Given the description of an element on the screen output the (x, y) to click on. 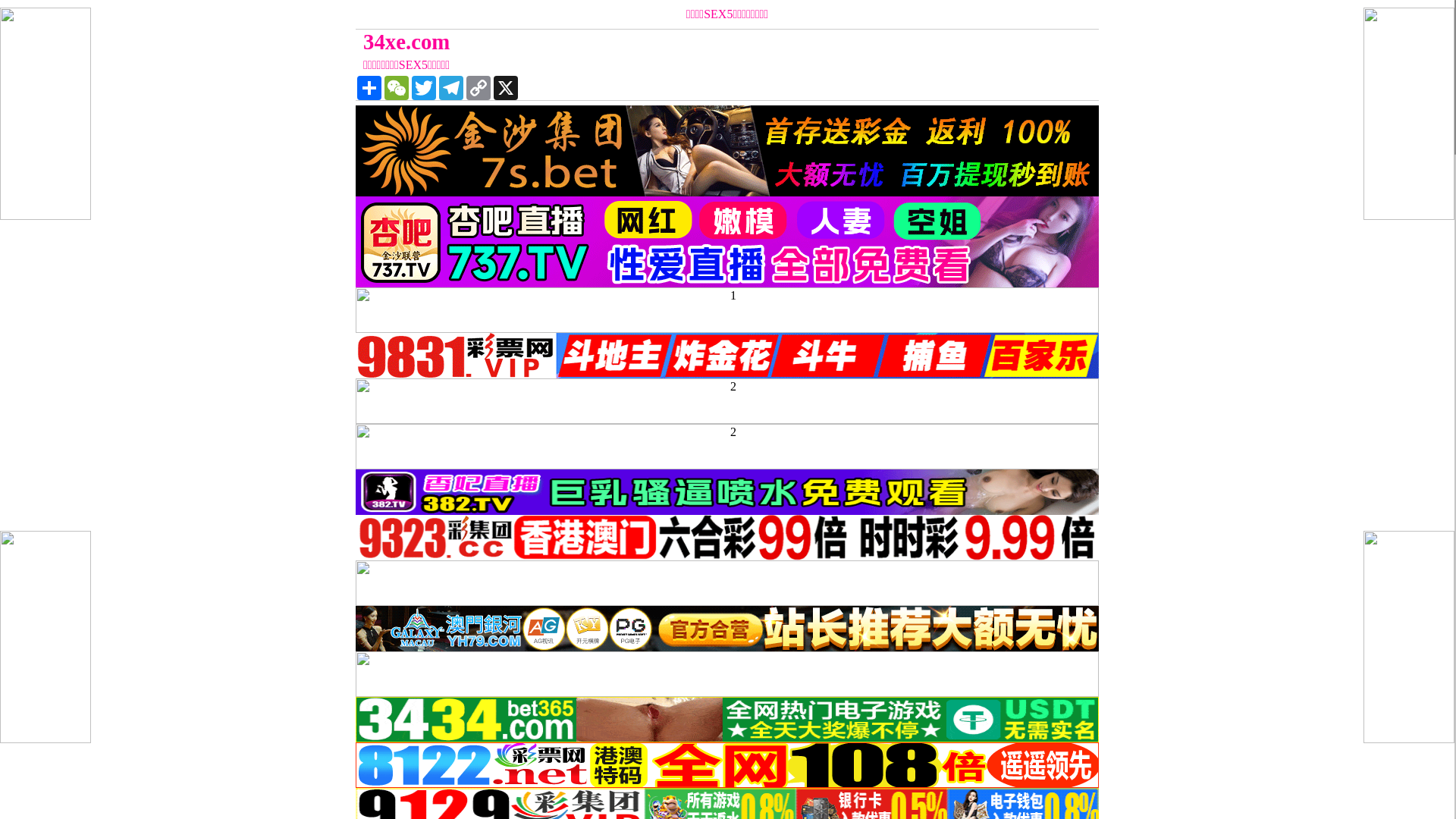
Copy Link Element type: text (478, 87)
34xe.com Element type: text (634, 41)
Twitter Element type: text (423, 87)
X Element type: text (505, 87)
WeChat Element type: text (396, 87)
Telegram Element type: text (450, 87)
